Given the description of an element on the screen output the (x, y) to click on. 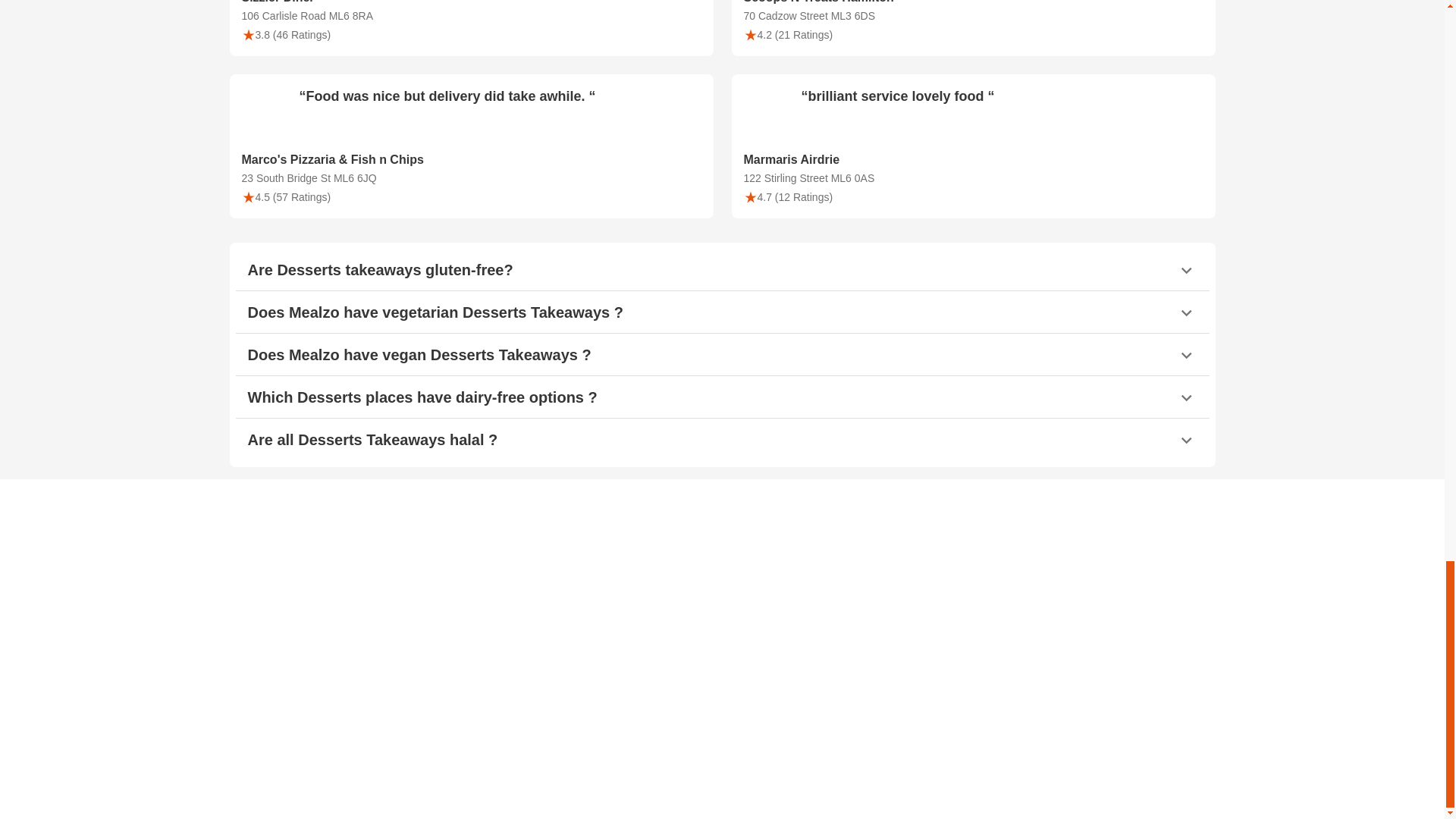
Scoops N Treats Hamilton (972, 3)
Sizzler Diner (470, 3)
Marmaris Airdrie (972, 159)
